Given the description of an element on the screen output the (x, y) to click on. 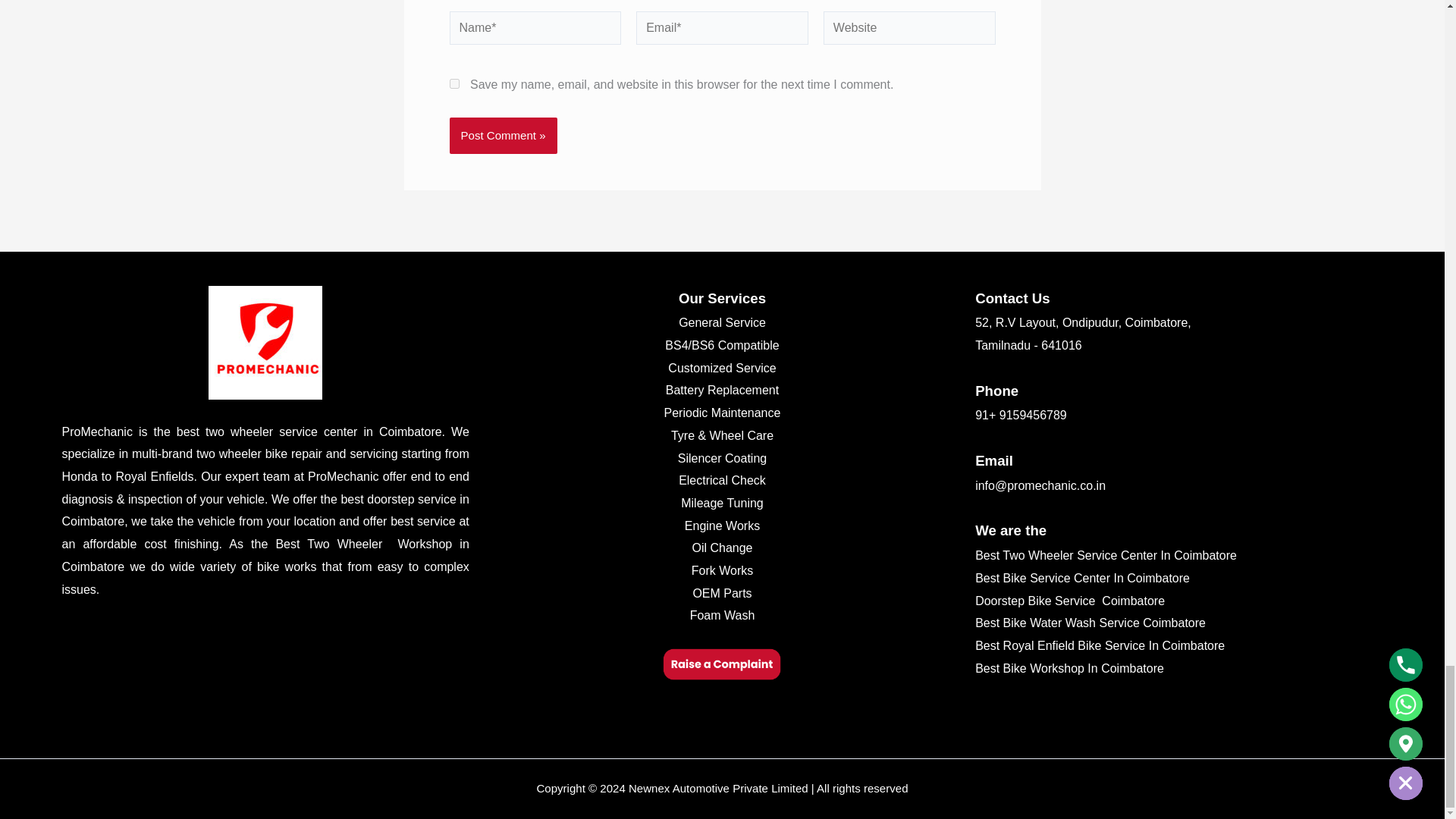
yes (453, 83)
